Given the description of an element on the screen output the (x, y) to click on. 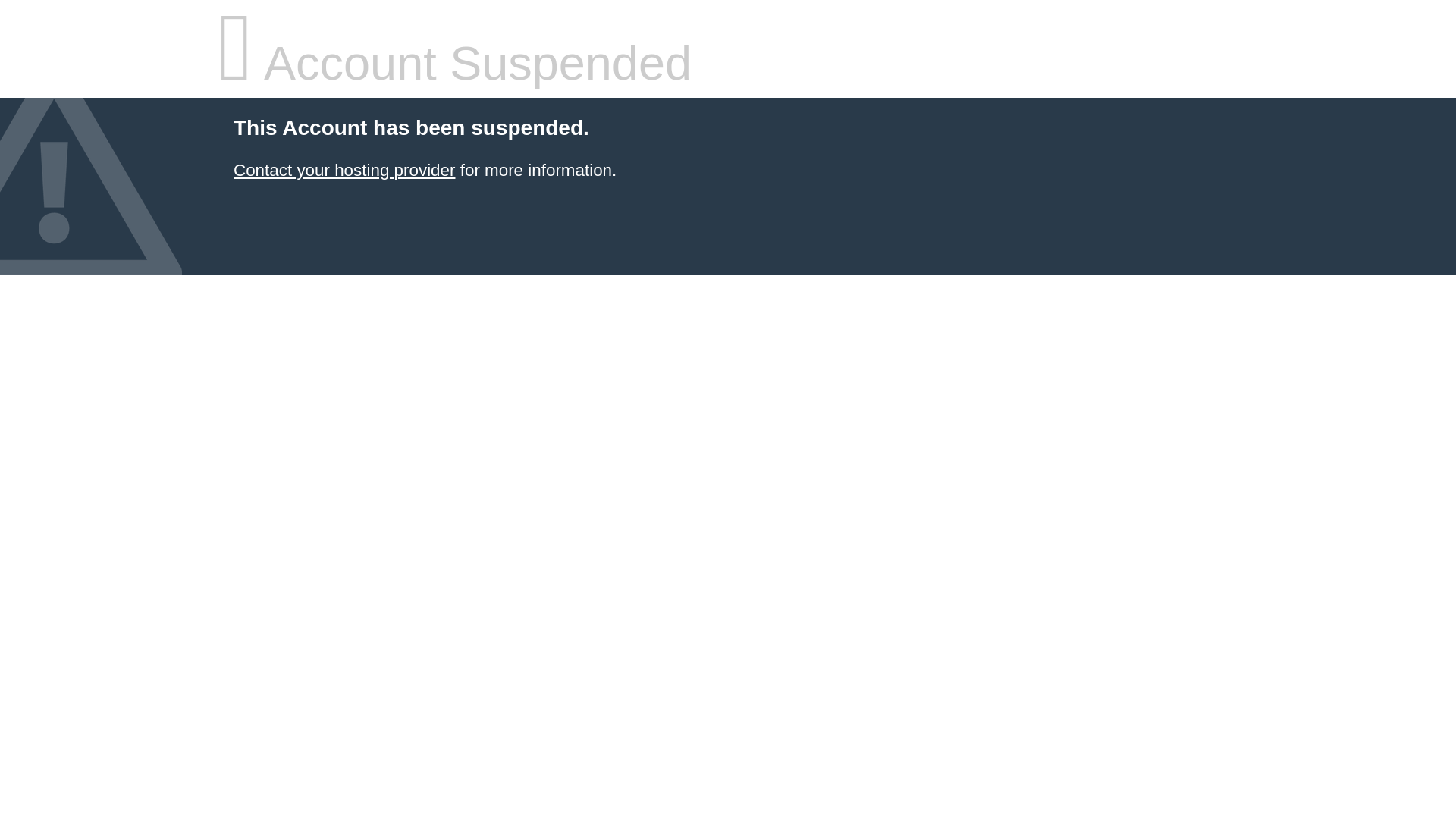
Contact your hosting provider (343, 169)
